Given the description of an element on the screen output the (x, y) to click on. 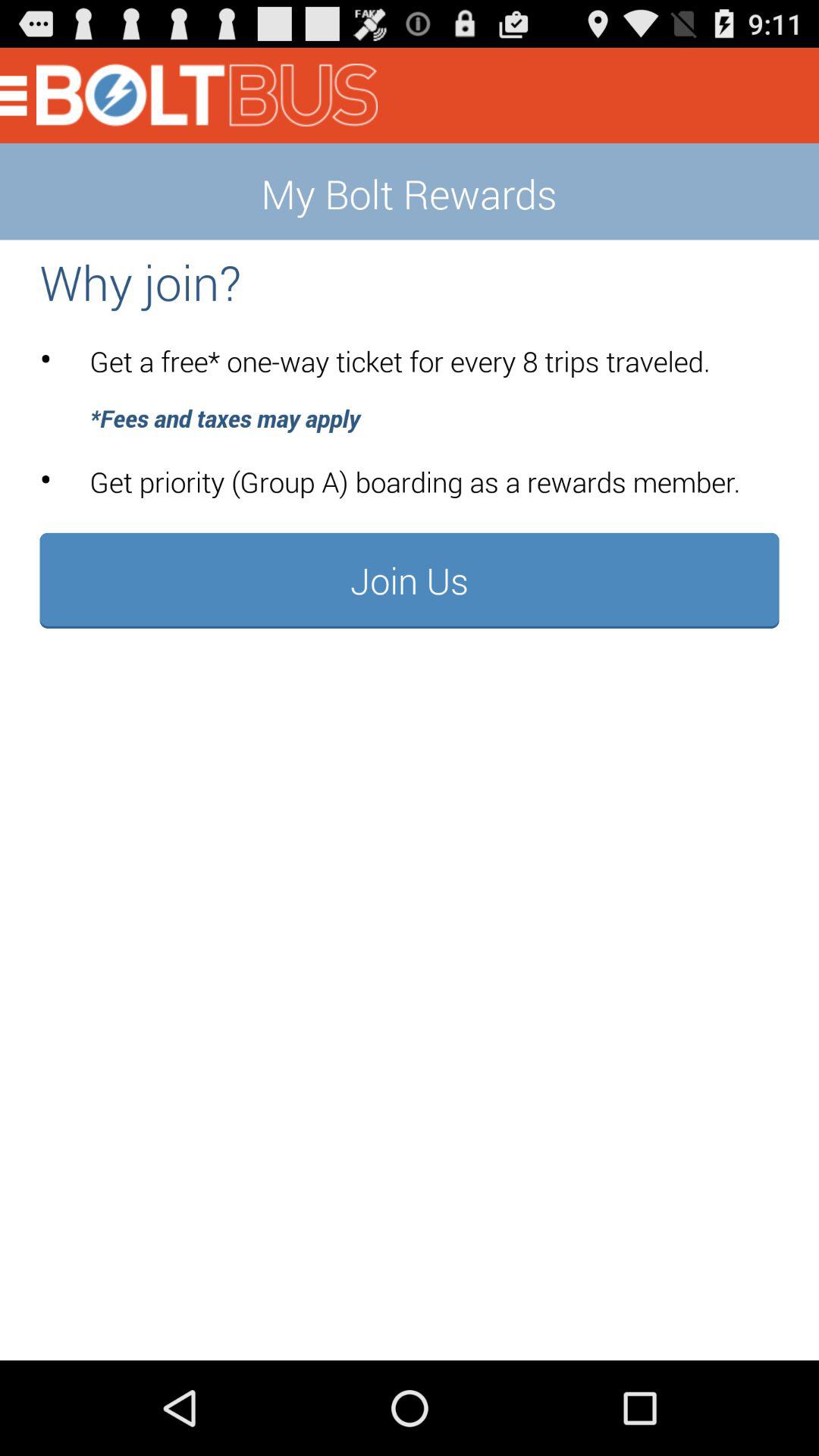
open button at the center (409, 580)
